Given the description of an element on the screen output the (x, y) to click on. 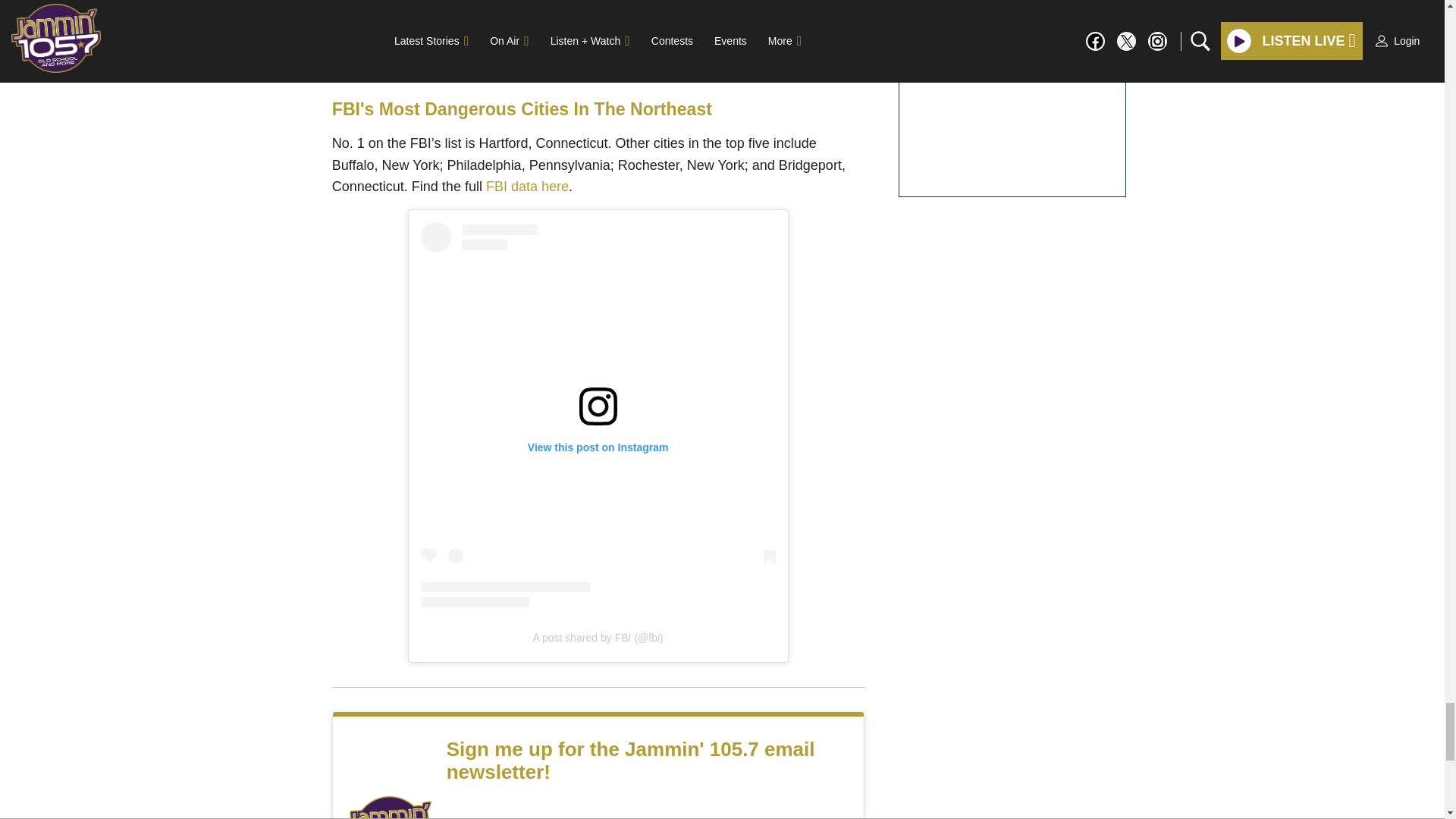
3rd party ad content (597, 2)
